Given the description of an element on the screen output the (x, y) to click on. 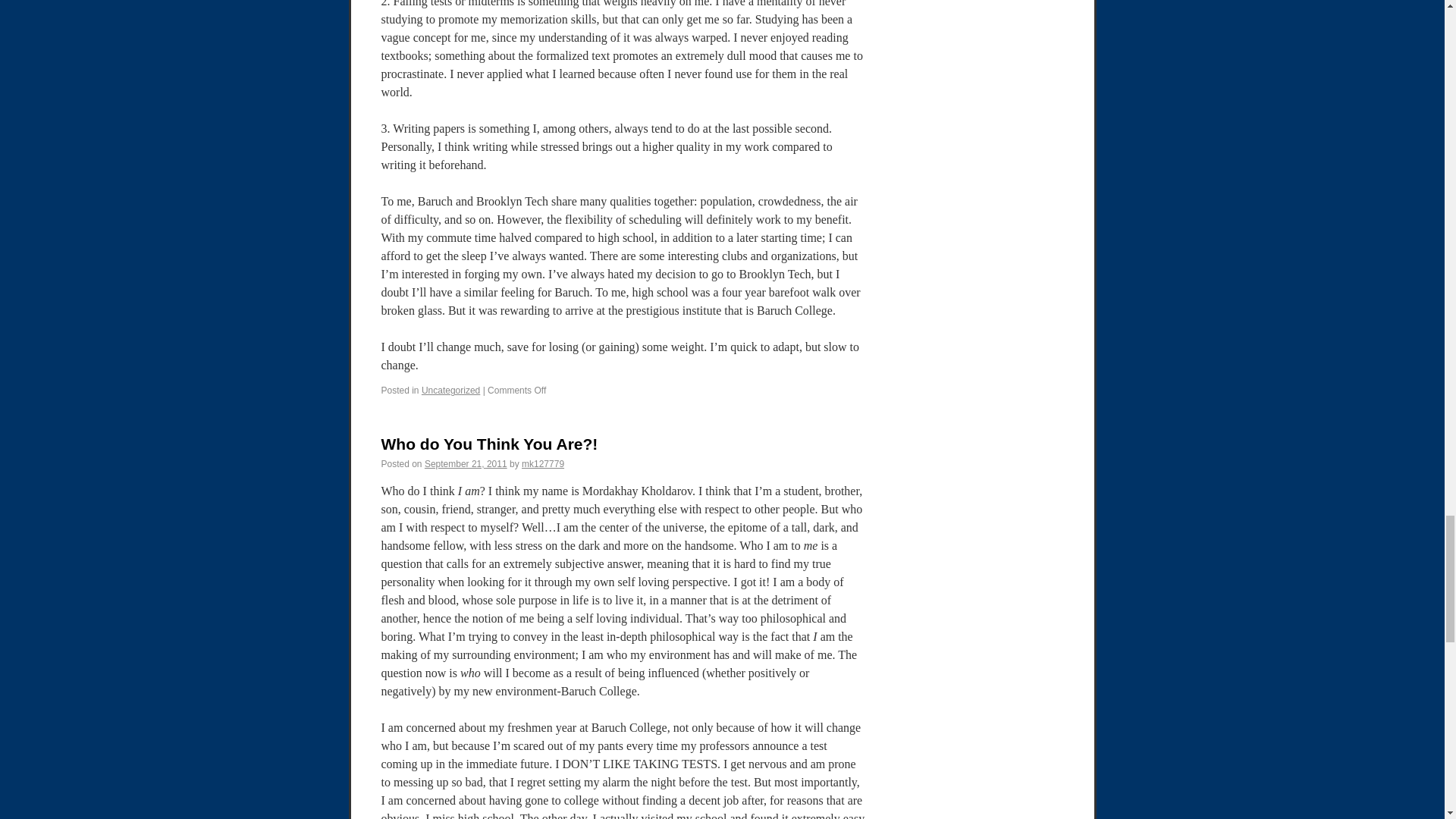
September 21, 2011 (465, 463)
Uncategorized (451, 389)
Who do You Think You Are?! (488, 443)
